Given the description of an element on the screen output the (x, y) to click on. 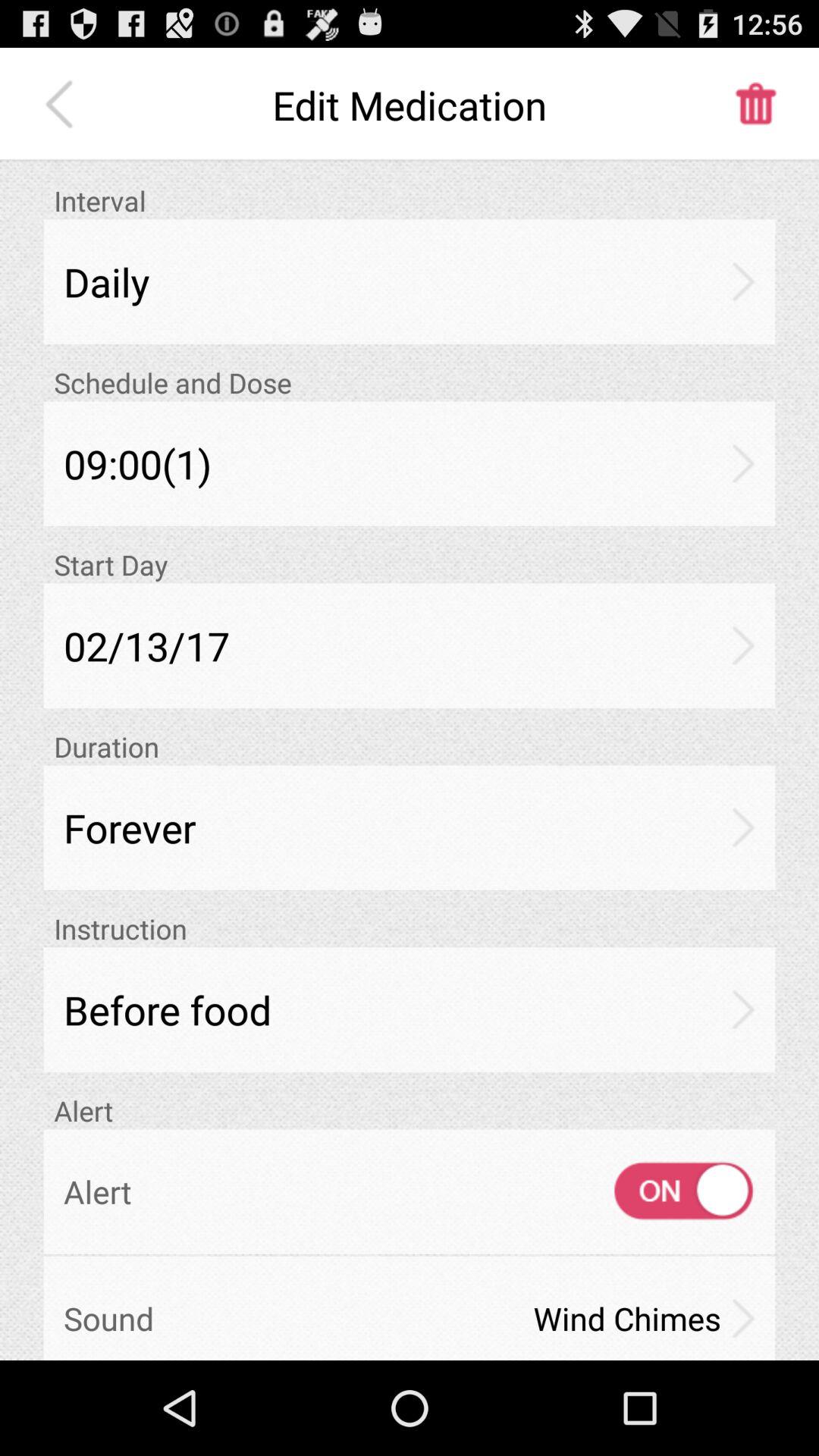
select the icon below start day icon (409, 645)
